Given the description of an element on the screen output the (x, y) to click on. 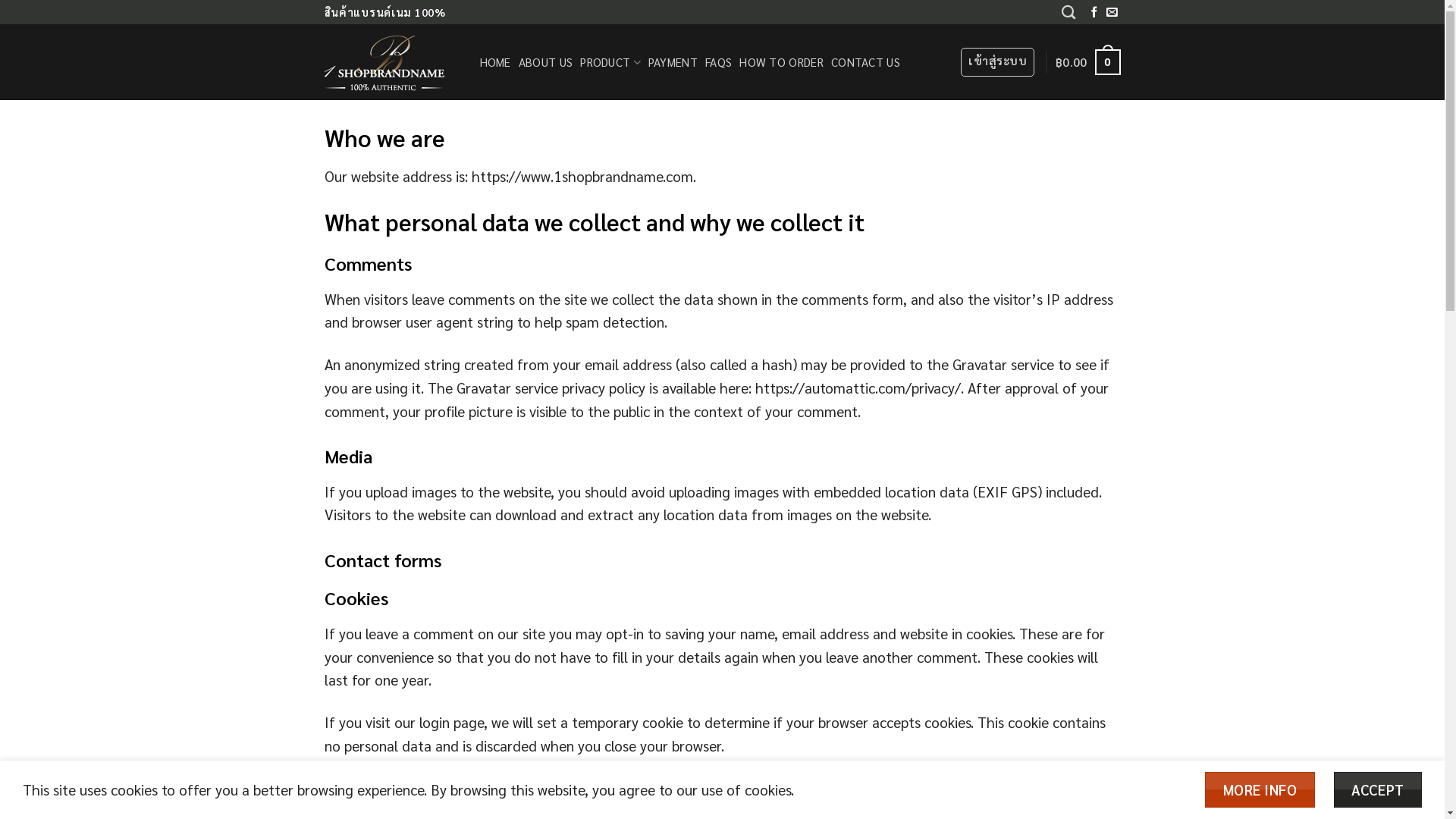
PRODUCT Element type: text (610, 62)
CONTACT US Element type: text (865, 61)
HOW TO ORDER Element type: text (781, 61)
Send us an email Element type: hover (1111, 12)
ABOUT US Element type: text (545, 61)
ACCEPT Element type: text (1377, 789)
PAYMENT Element type: text (672, 61)
Follow on Facebook Element type: hover (1093, 12)
MORE INFO Element type: text (1259, 789)
FAQS Element type: text (718, 61)
HOME Element type: text (494, 61)
